Given the description of an element on the screen output the (x, y) to click on. 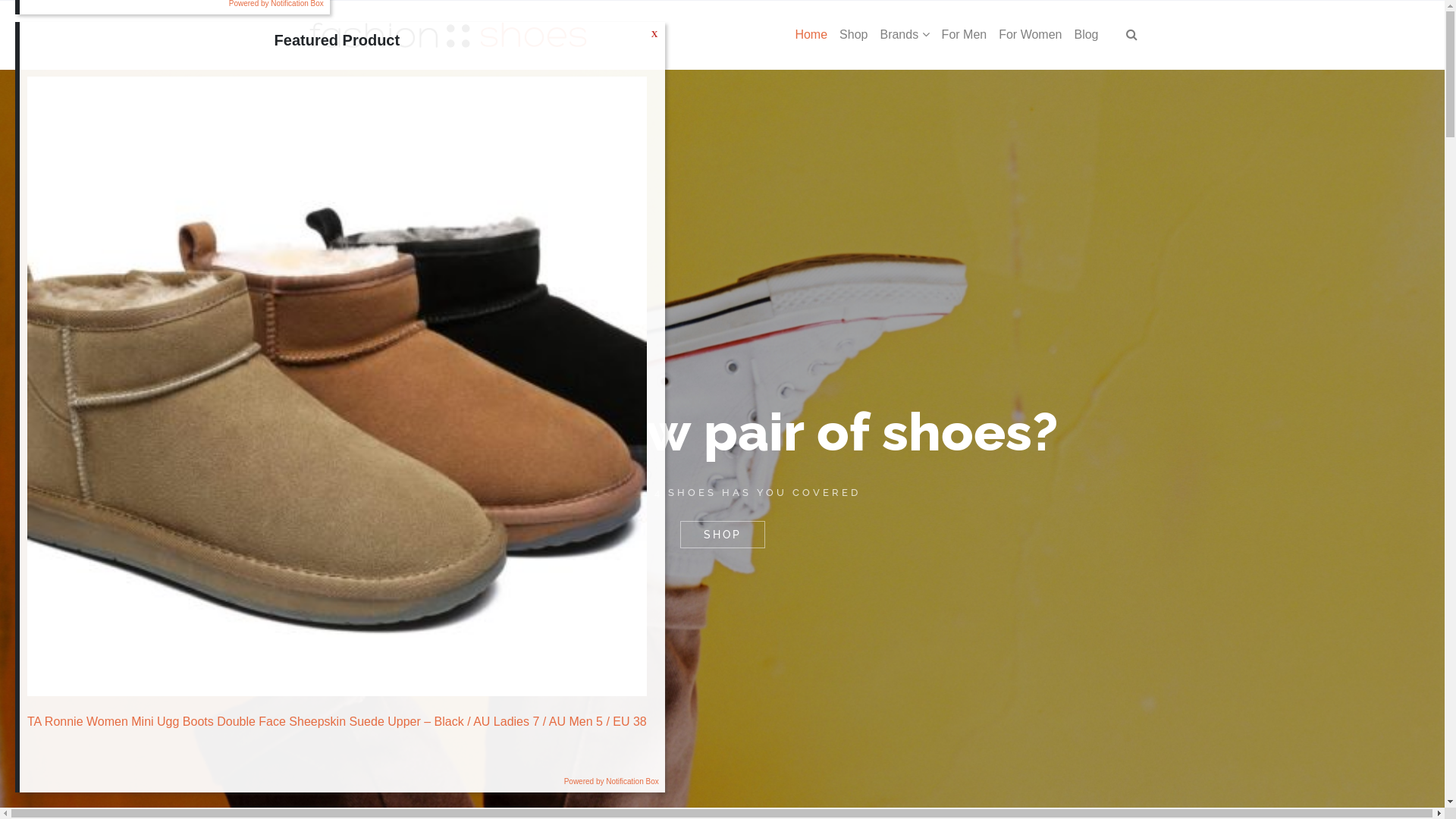
X Element type: text (654, 33)
Powered by Notification Box Element type: text (611, 781)
For Men Element type: text (964, 34)
Skip to content Element type: text (1444, 0)
Fashion 4 Shoes Element type: hover (447, 34)
Home Element type: text (810, 34)
Blog Element type: text (1085, 34)
Shop Element type: text (853, 34)
For Women Element type: text (1029, 34)
Brands Element type: text (904, 34)
